Given the description of an element on the screen output the (x, y) to click on. 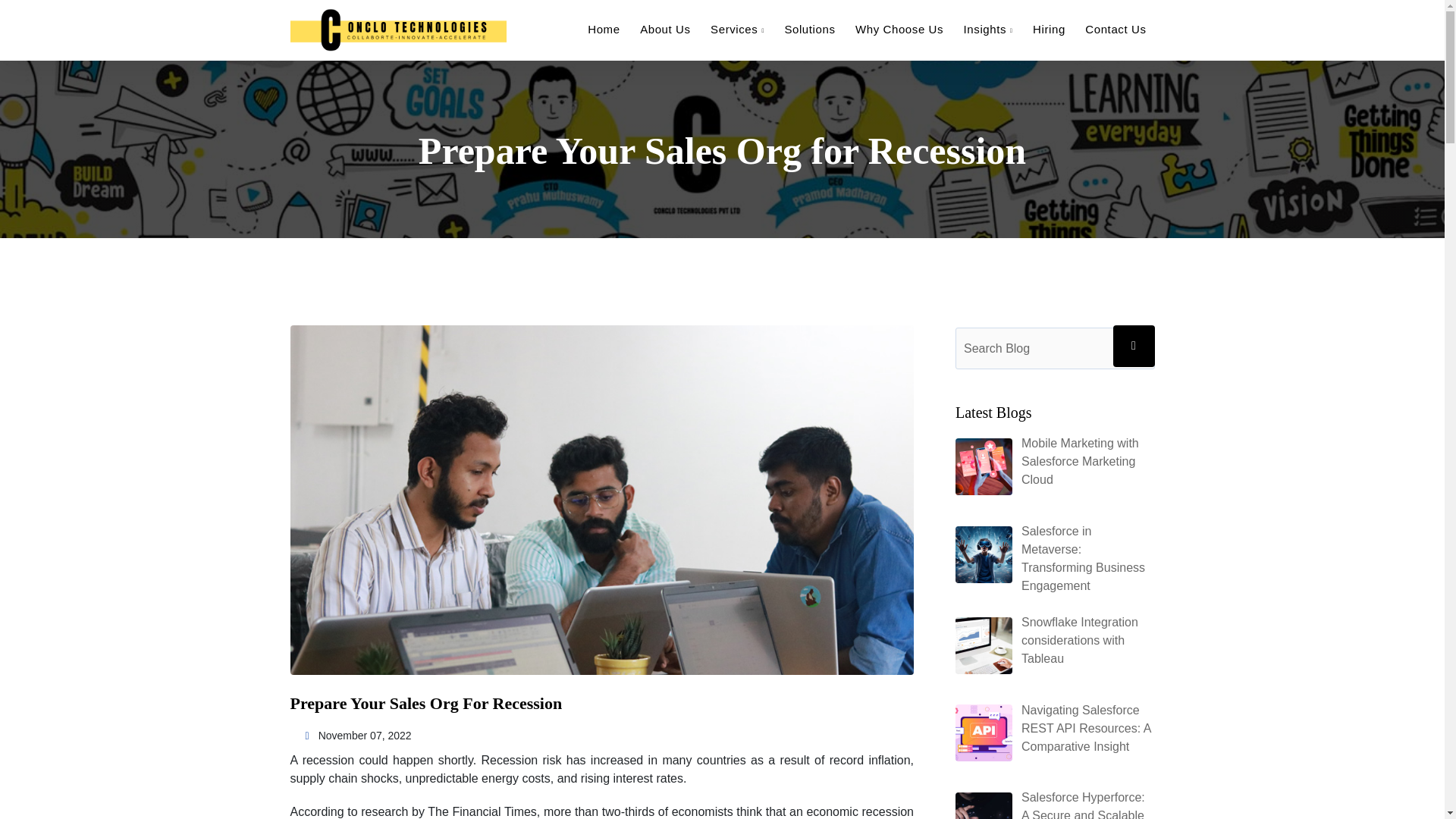
Contact Us (1114, 29)
Why Choose Us (899, 29)
Services (737, 29)
About Us (665, 29)
Solutions (809, 29)
Salesforce in Metaverse: Transforming Business Engagement (1083, 558)
Search (1133, 345)
Prepare Your Sales Org For Recession (425, 702)
Snowflake Integration considerations with Tableau (1080, 640)
Home (604, 29)
Insights (988, 29)
Mobile Marketing with Salesforce Marketing Cloud (1080, 461)
Hiring (1048, 29)
